Given the description of an element on the screen output the (x, y) to click on. 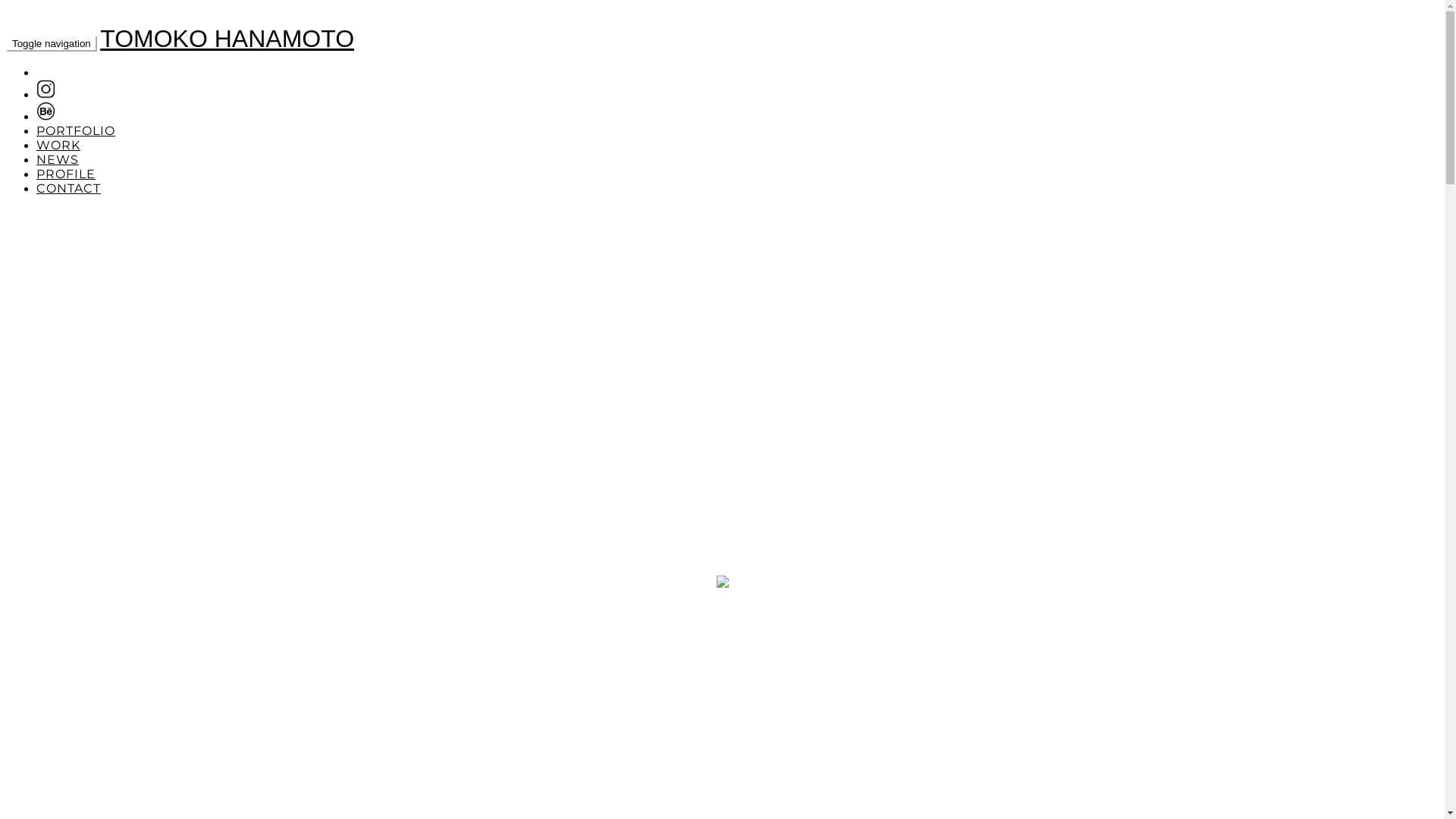
PROFILE Element type: text (65, 173)
NEWS Element type: text (57, 159)
TOMOKO HANAMOTO Element type: text (227, 38)
Toggle navigation Element type: text (51, 43)
CONTACT Element type: text (68, 188)
PORTFOLIO Element type: text (75, 130)
WORK Element type: text (58, 145)
